Given the description of an element on the screen output the (x, y) to click on. 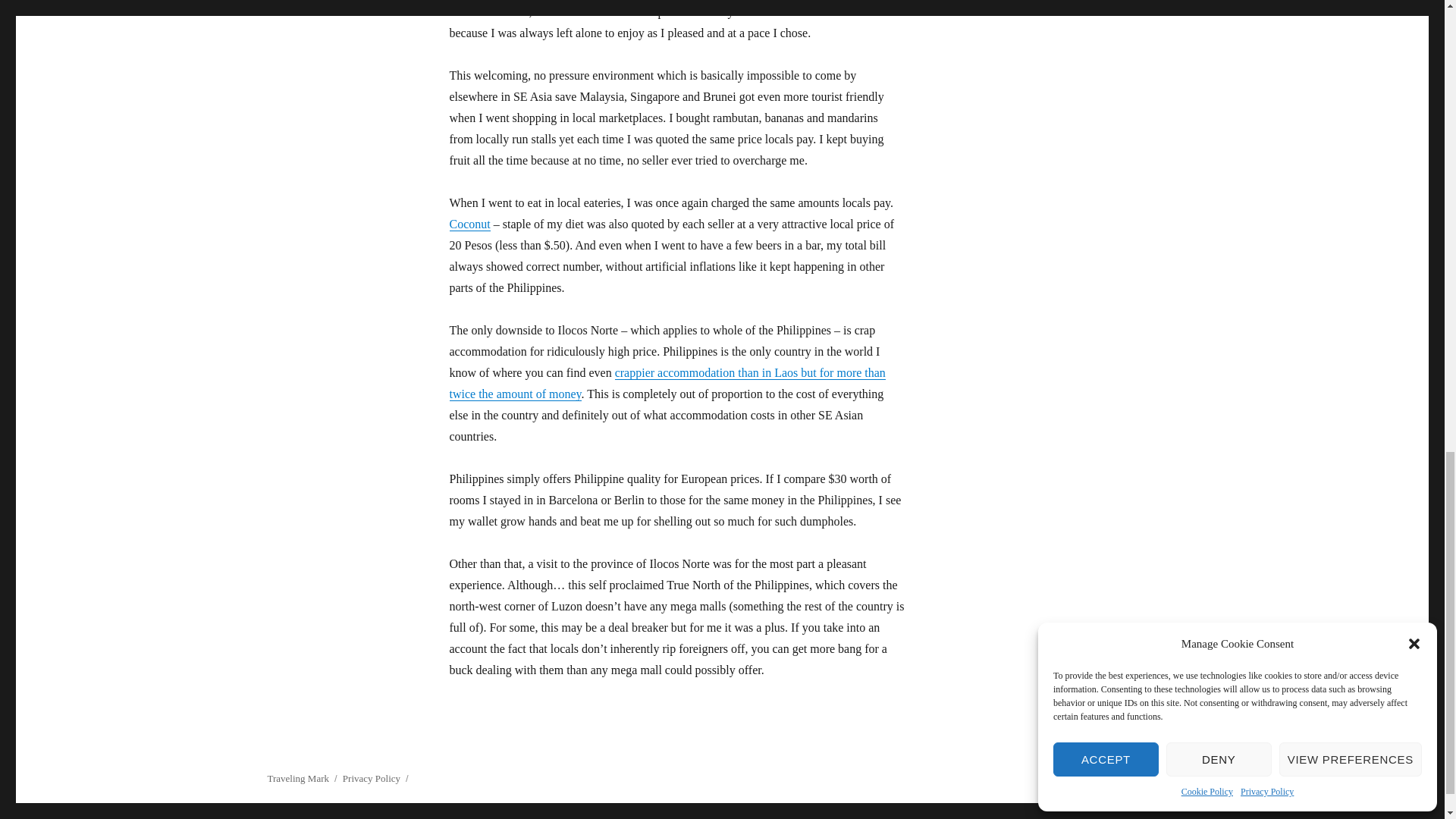
Expensive But Crappy Accommodation in Laos (666, 383)
Health Benefits of Coconut Water (468, 223)
Coconut (468, 223)
